Given the description of an element on the screen output the (x, y) to click on. 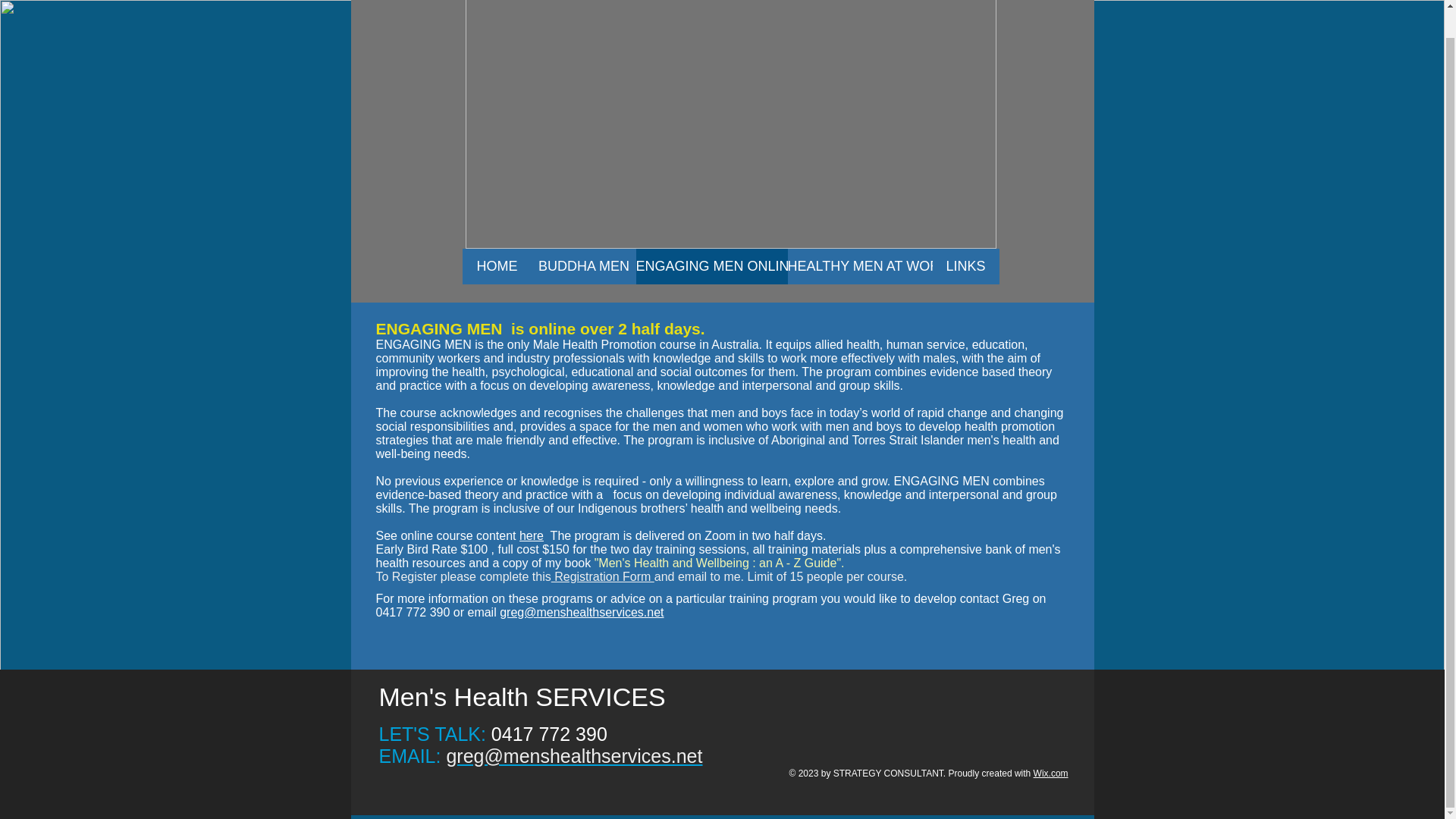
ENGAGING MEN ONLINE (710, 266)
EM ONLINE PIC.jpg (730, 124)
BUDDHA MEN (584, 266)
Wix.com (1050, 773)
here (531, 535)
Registration Form (602, 576)
LINKS (965, 266)
HEALTHY MEN AT WORK (859, 266)
HOME (497, 266)
